Given the description of an element on the screen output the (x, y) to click on. 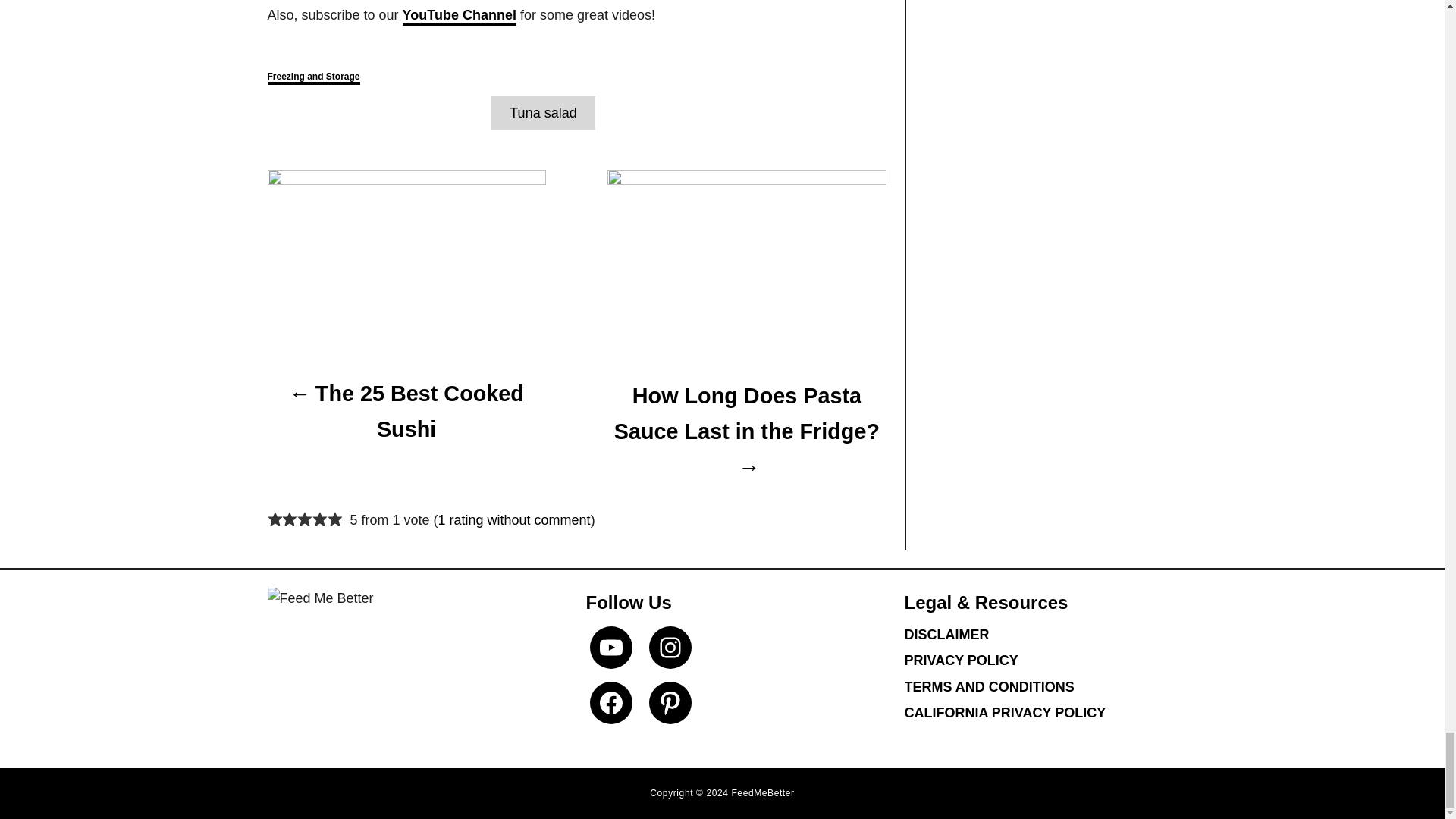
YouTube Channel (459, 16)
The 25 Best Cooked Sushi (405, 411)
Tuna salad (543, 113)
Freezing and Storage (312, 78)
